Given the description of an element on the screen output the (x, y) to click on. 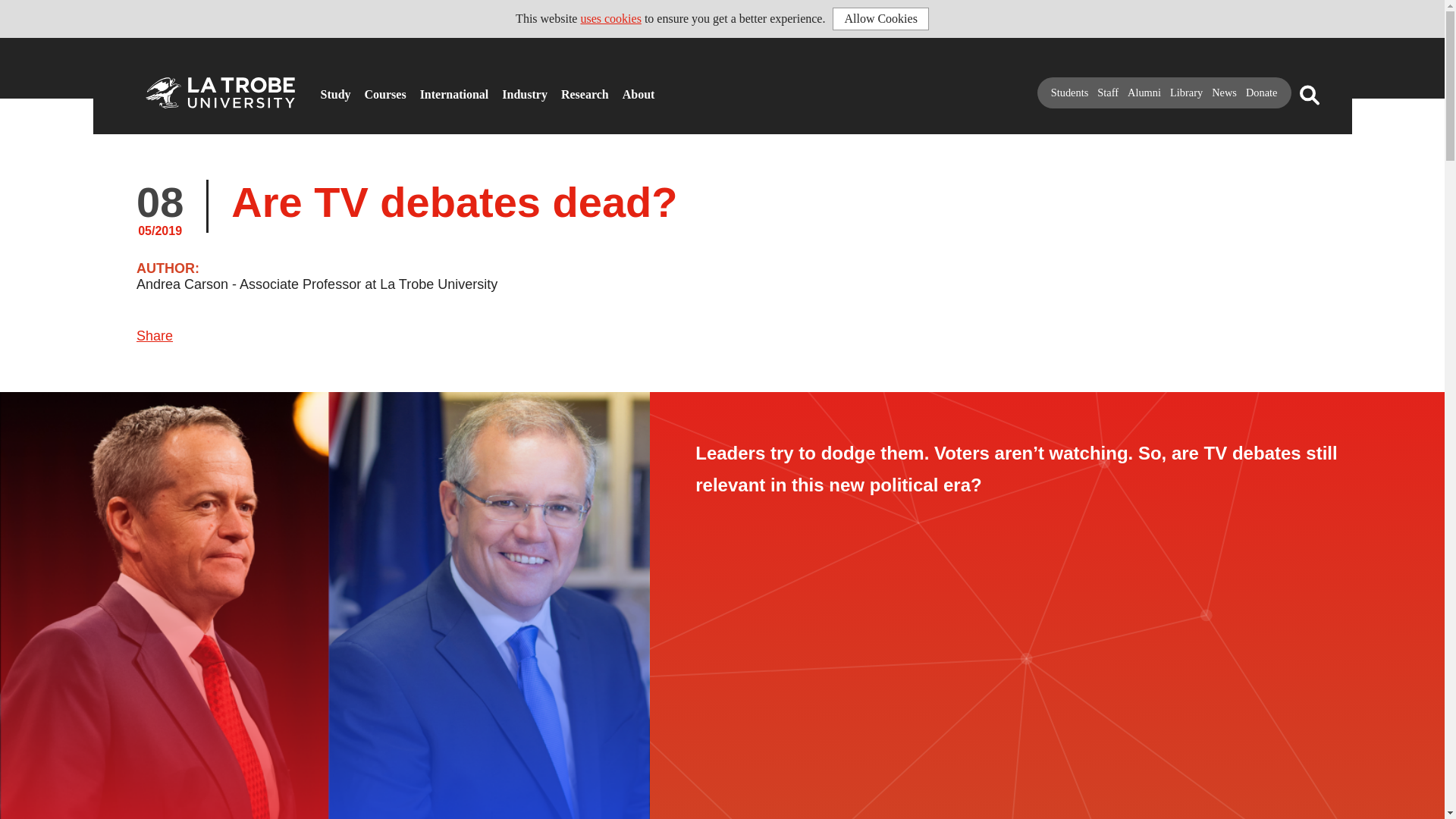
News (1223, 92)
International students (424, 88)
Staff (1107, 92)
Courses (369, 88)
Study with us (325, 88)
Courses (369, 88)
Industry and Community (507, 88)
Study with us (325, 88)
Students (1070, 92)
Research (565, 88)
